Given the description of an element on the screen output the (x, y) to click on. 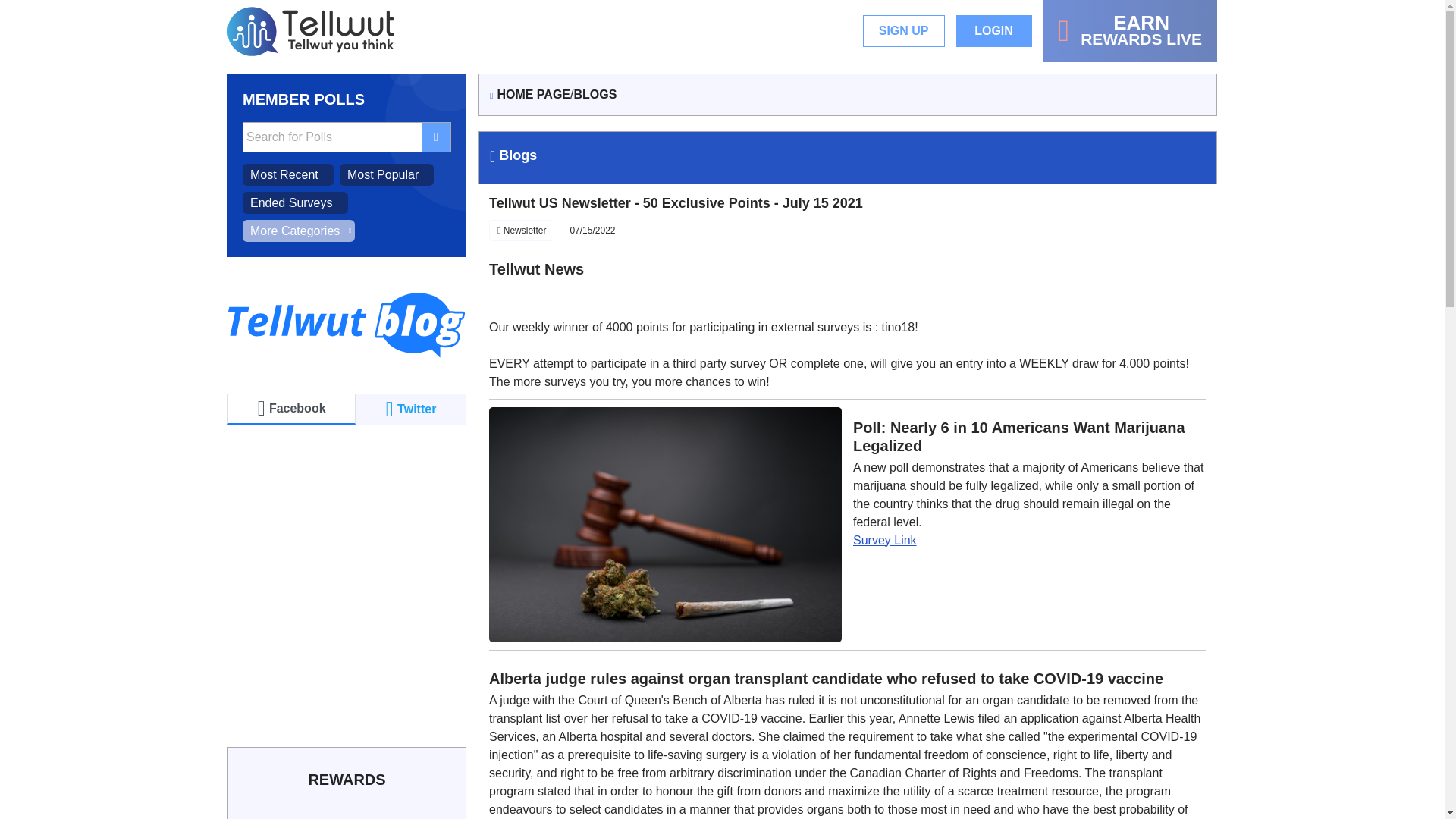
Ended Surveys (295, 202)
More Categories (299, 230)
SIGN UP (1130, 31)
Most Recent (903, 30)
Most Popular (288, 174)
LOGIN (386, 174)
